Given the description of an element on the screen output the (x, y) to click on. 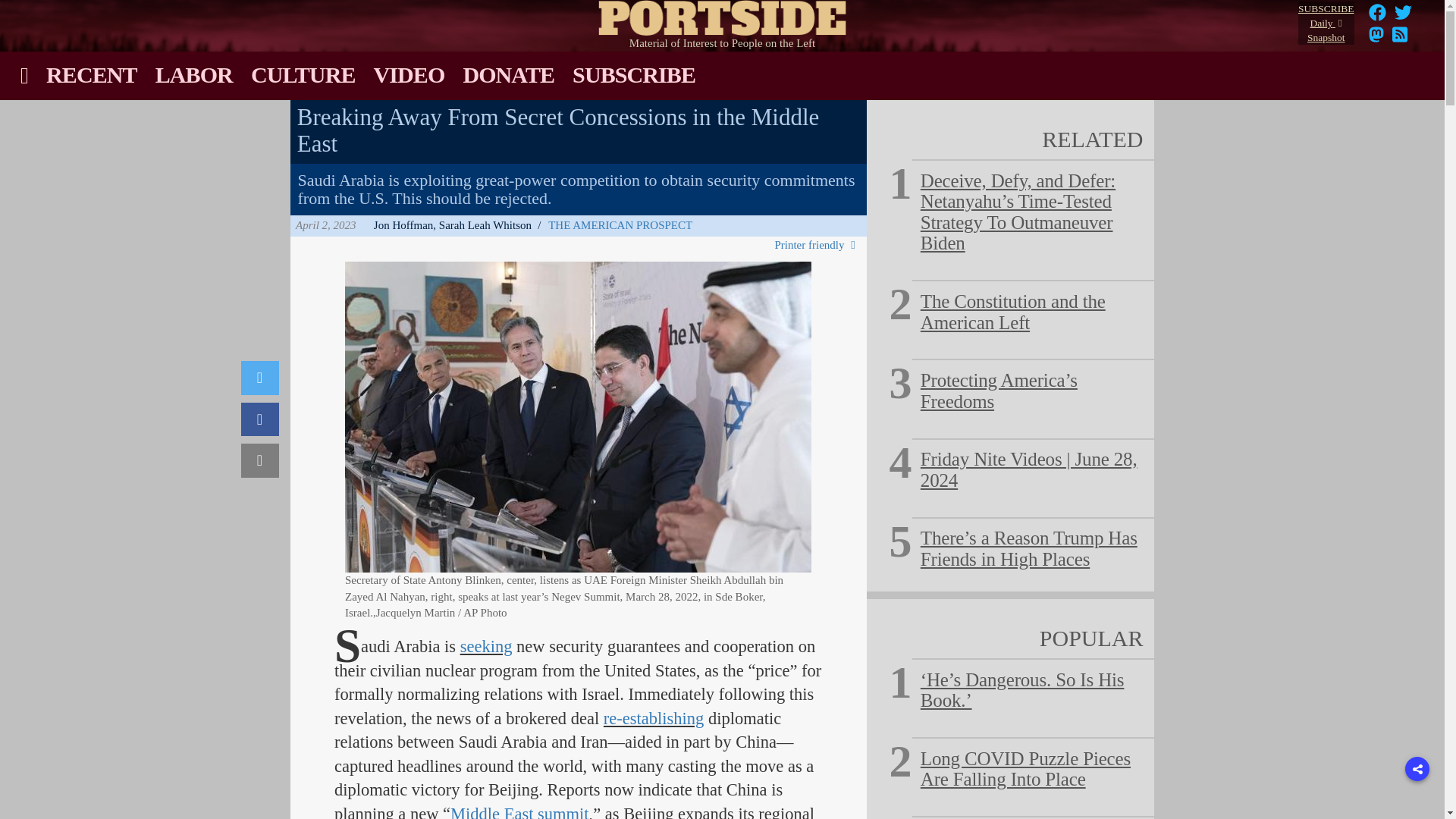
Facebook (1377, 11)
THE AMERICAN PROSPECT (620, 225)
VIDEO (409, 74)
Twitter (1403, 11)
The most recent news articles (92, 74)
Follow Portside on Twitter (1403, 16)
DONATE (507, 74)
Mastodon (1376, 39)
RSS (1399, 39)
Follow Portside on Mastodon (1376, 39)
Mail (260, 460)
Twitter (260, 377)
Middle East summit (519, 811)
RECENT (92, 74)
